Given the description of an element on the screen output the (x, y) to click on. 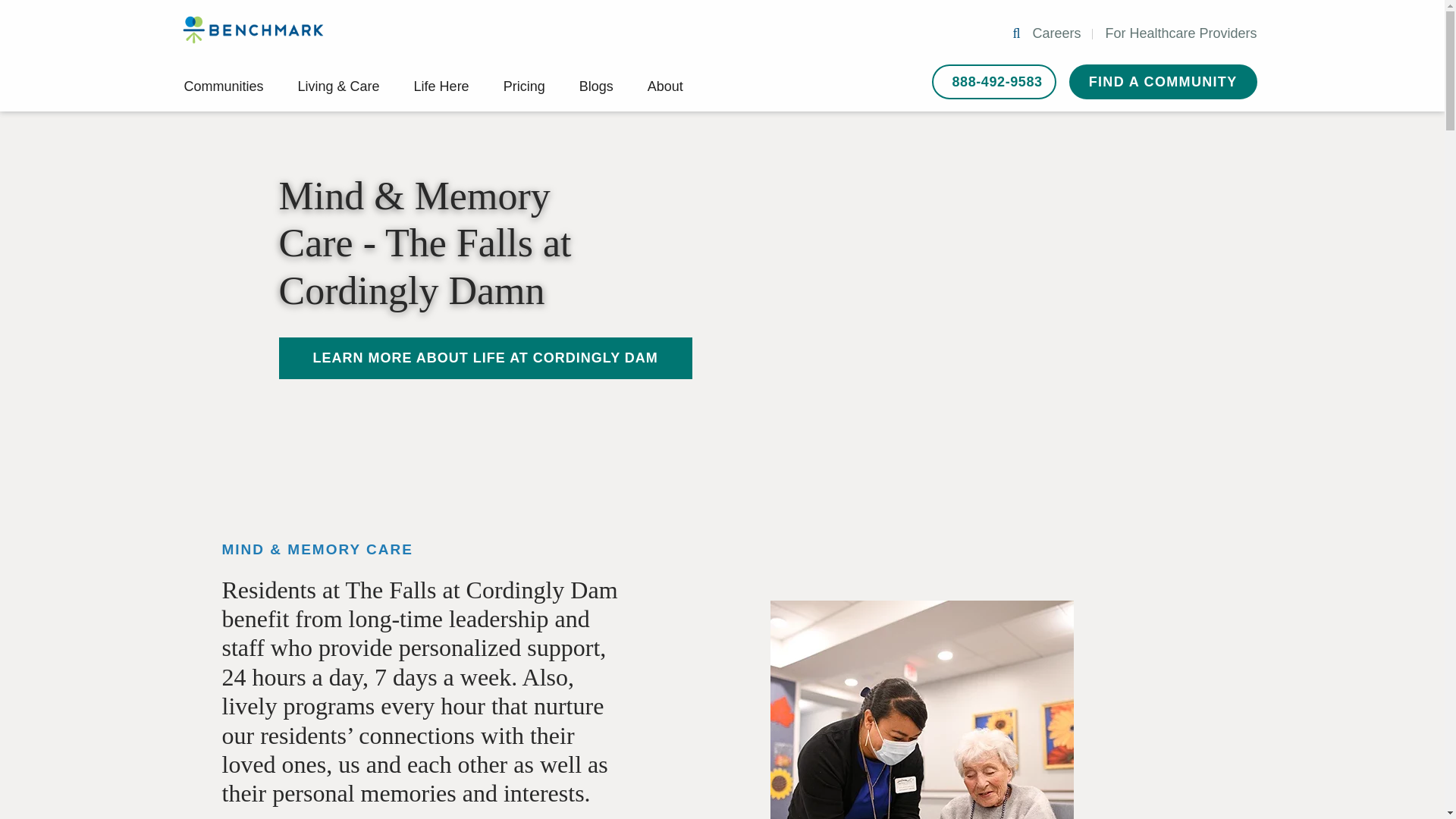
Life Here (440, 86)
Careers (1056, 32)
For Healthcare Providers (1180, 32)
Communities (223, 86)
